Given the description of an element on the screen output the (x, y) to click on. 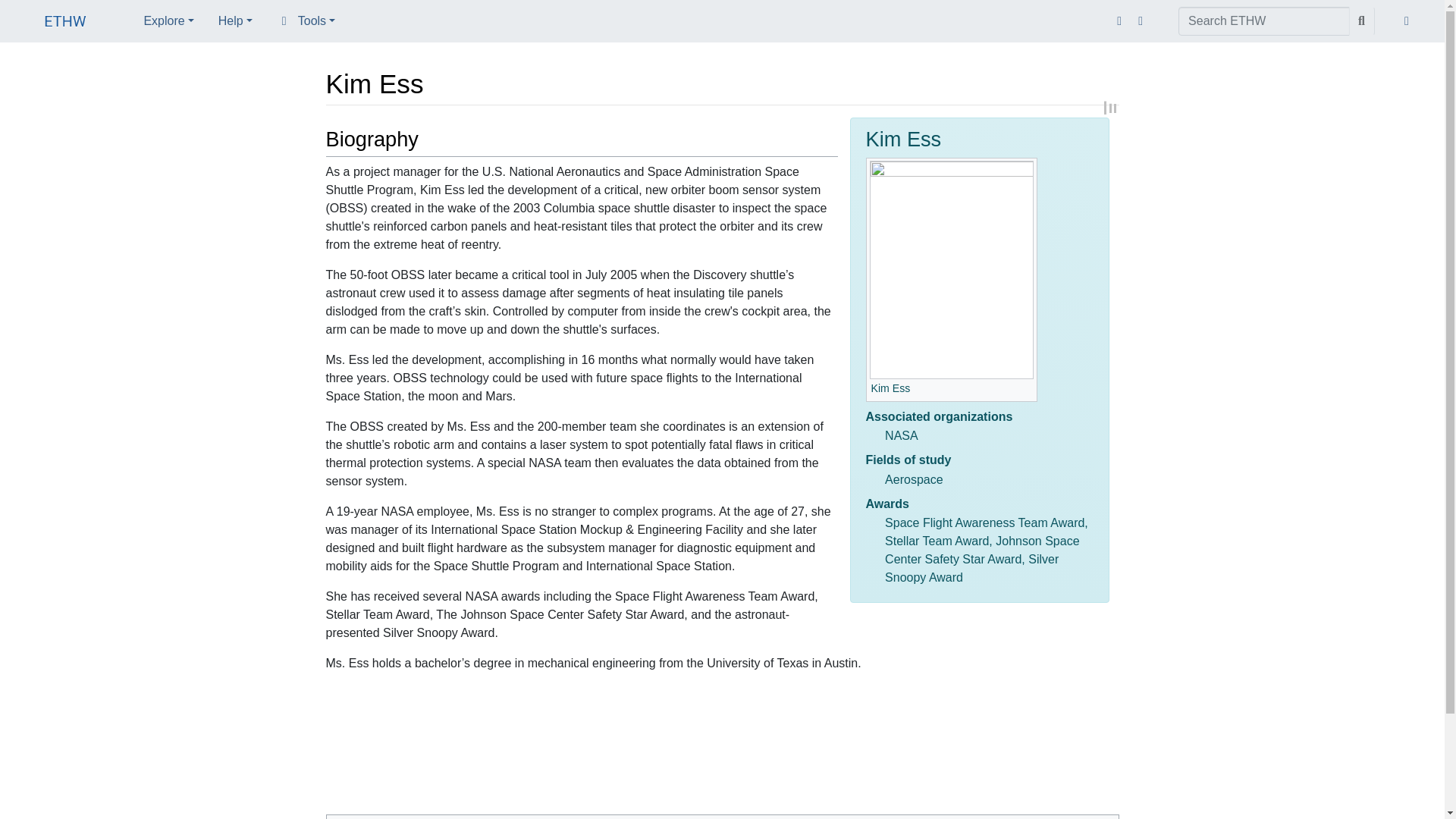
Go to a page with this exact name if it exists (1361, 21)
Go (1361, 21)
Help (235, 20)
Explore (168, 20)
Tools (305, 20)
Visit the main page (65, 22)
